Given the description of an element on the screen output the (x, y) to click on. 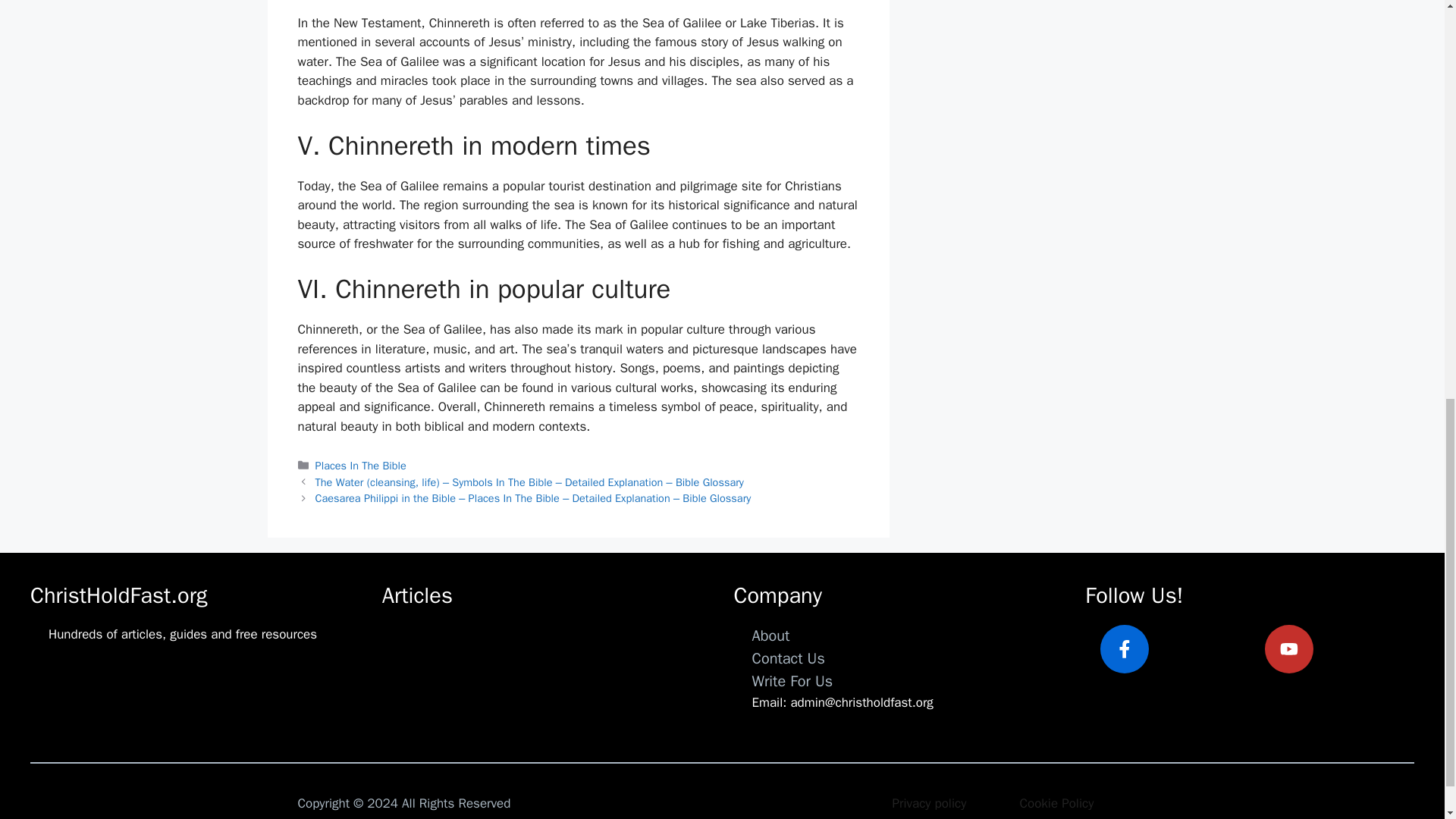
Contact Us (788, 658)
Write For Us (792, 681)
About (771, 635)
Places In The Bible (360, 465)
ChristHoldFast.org (118, 595)
